Given the description of an element on the screen output the (x, y) to click on. 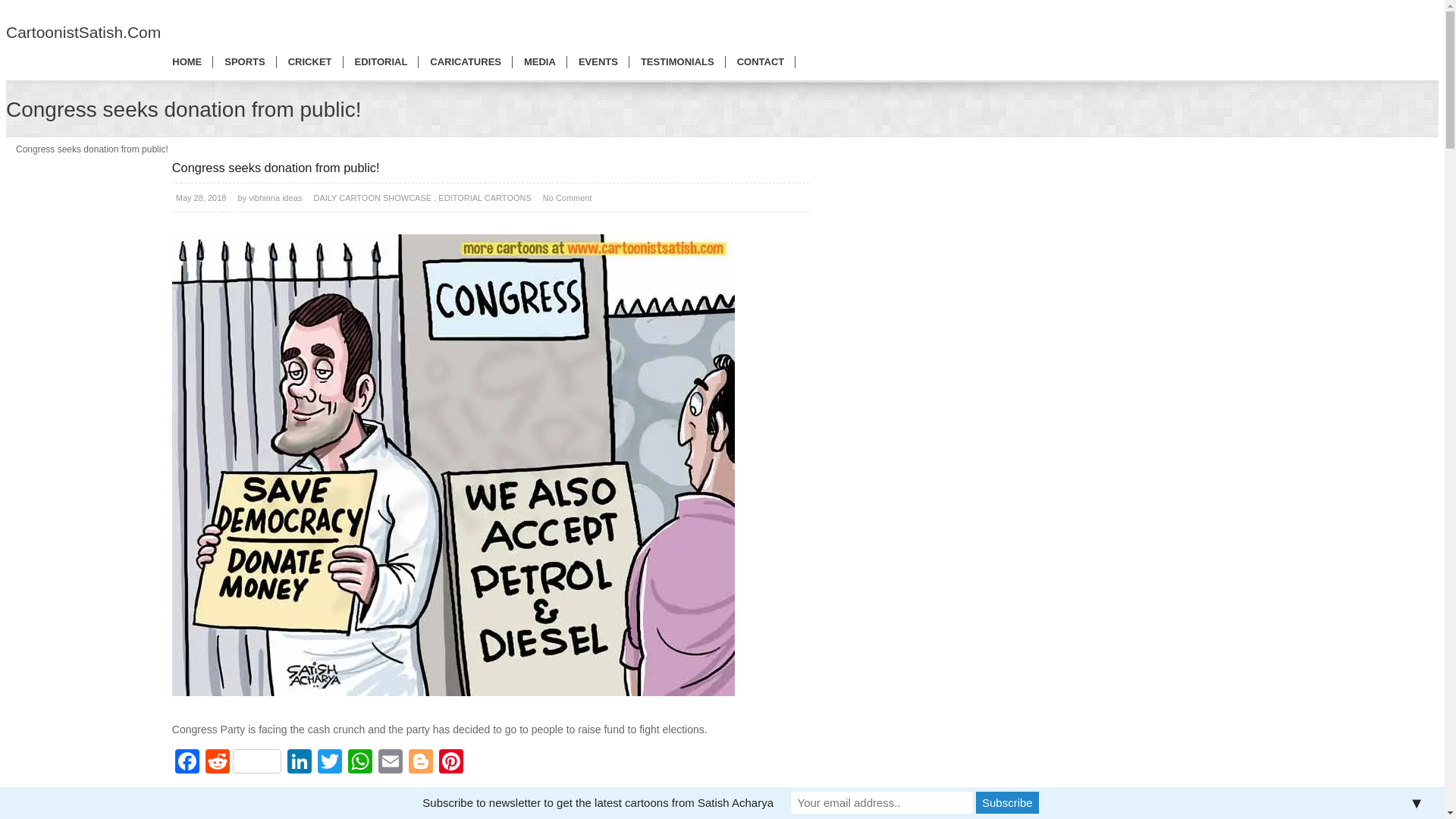
CONTACT (760, 62)
WhatsApp (360, 763)
Blogger (420, 763)
LinkedIn (298, 763)
SPORTS (244, 62)
CartoonistSatish.Com (82, 38)
CARICATURES (465, 62)
Reddit (242, 763)
Blogger (420, 763)
Twitter (329, 763)
Pinterest (450, 763)
View all posts in EDITORIAL CARTOONS (484, 197)
EDITORIAL CARTOONS (484, 197)
LinkedIn (298, 763)
